Given the description of an element on the screen output the (x, y) to click on. 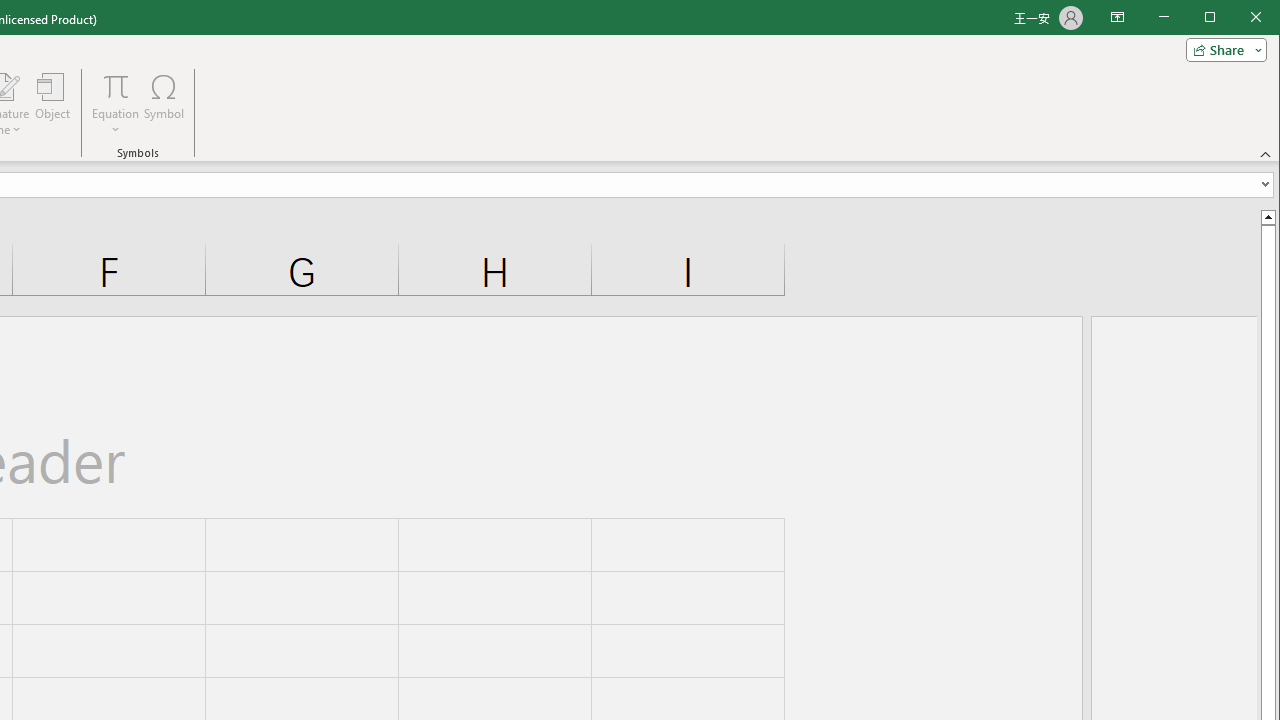
Object... (53, 104)
Symbol... (164, 104)
Equation (115, 104)
Equation (115, 86)
